Given the description of an element on the screen output the (x, y) to click on. 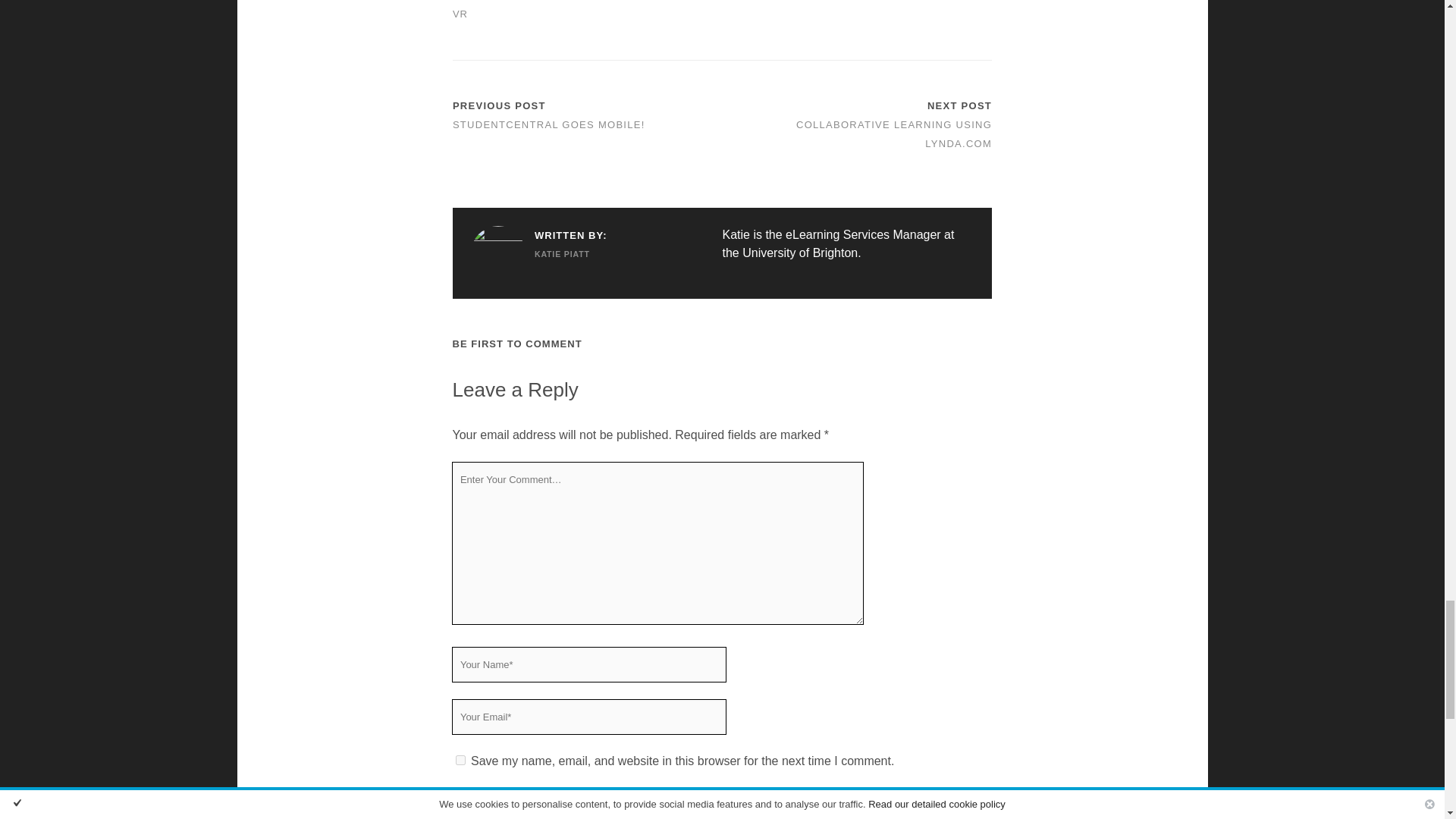
yes (459, 759)
Posts by Katie Piatt (538, 253)
